Given the description of an element on the screen output the (x, y) to click on. 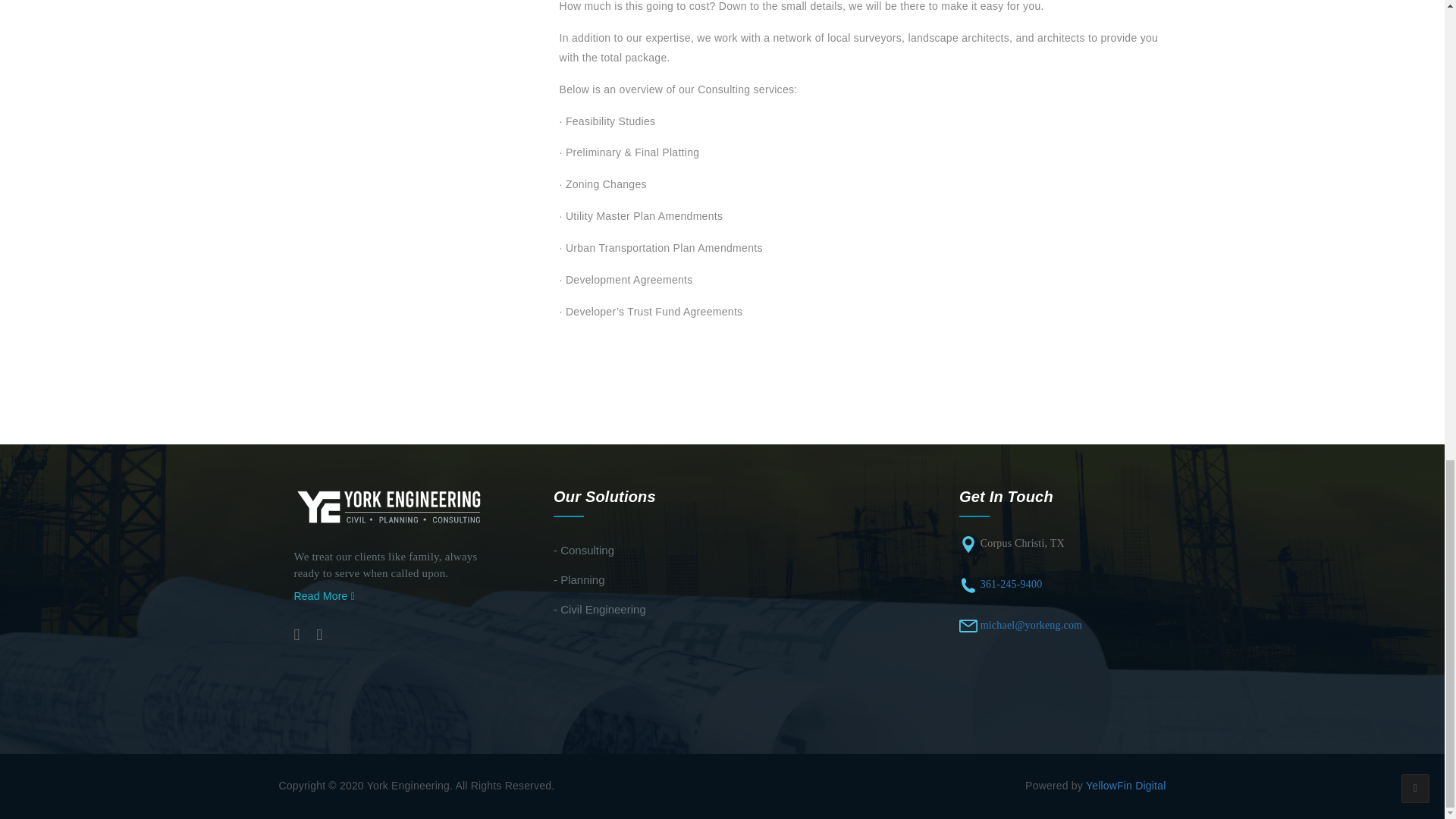
- Civil Engineering (599, 608)
York Engineering (390, 506)
- Consulting (583, 549)
361-245-9400 (1010, 584)
- Planning (579, 579)
Read More (324, 595)
YellowFin Digital (1126, 785)
